Given the description of an element on the screen output the (x, y) to click on. 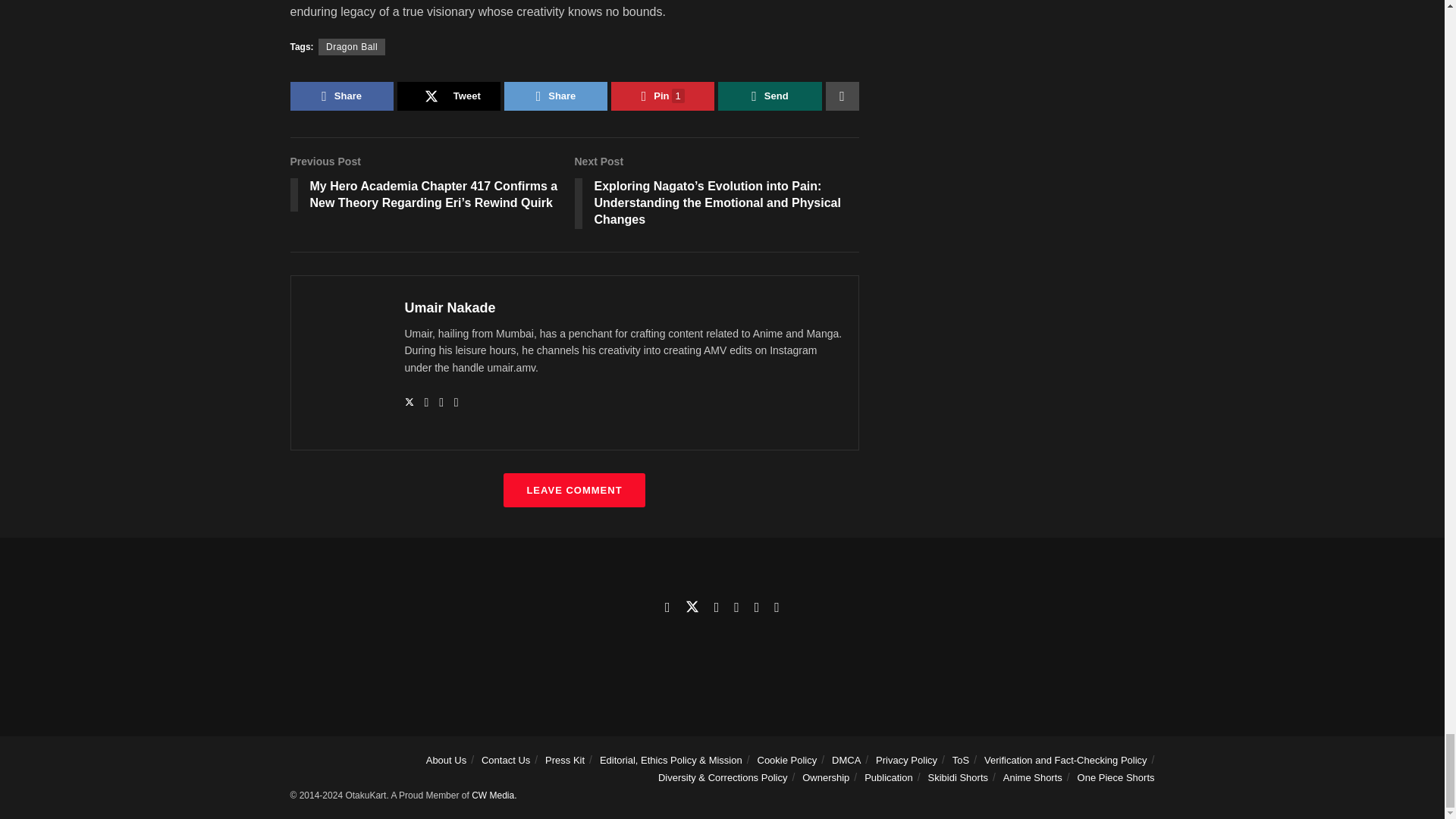
Pin1 (662, 95)
Send (769, 95)
Tweet (448, 95)
Umair Nakade (450, 307)
Share (341, 95)
Share (555, 95)
Dragon Ball (351, 46)
